Given the description of an element on the screen output the (x, y) to click on. 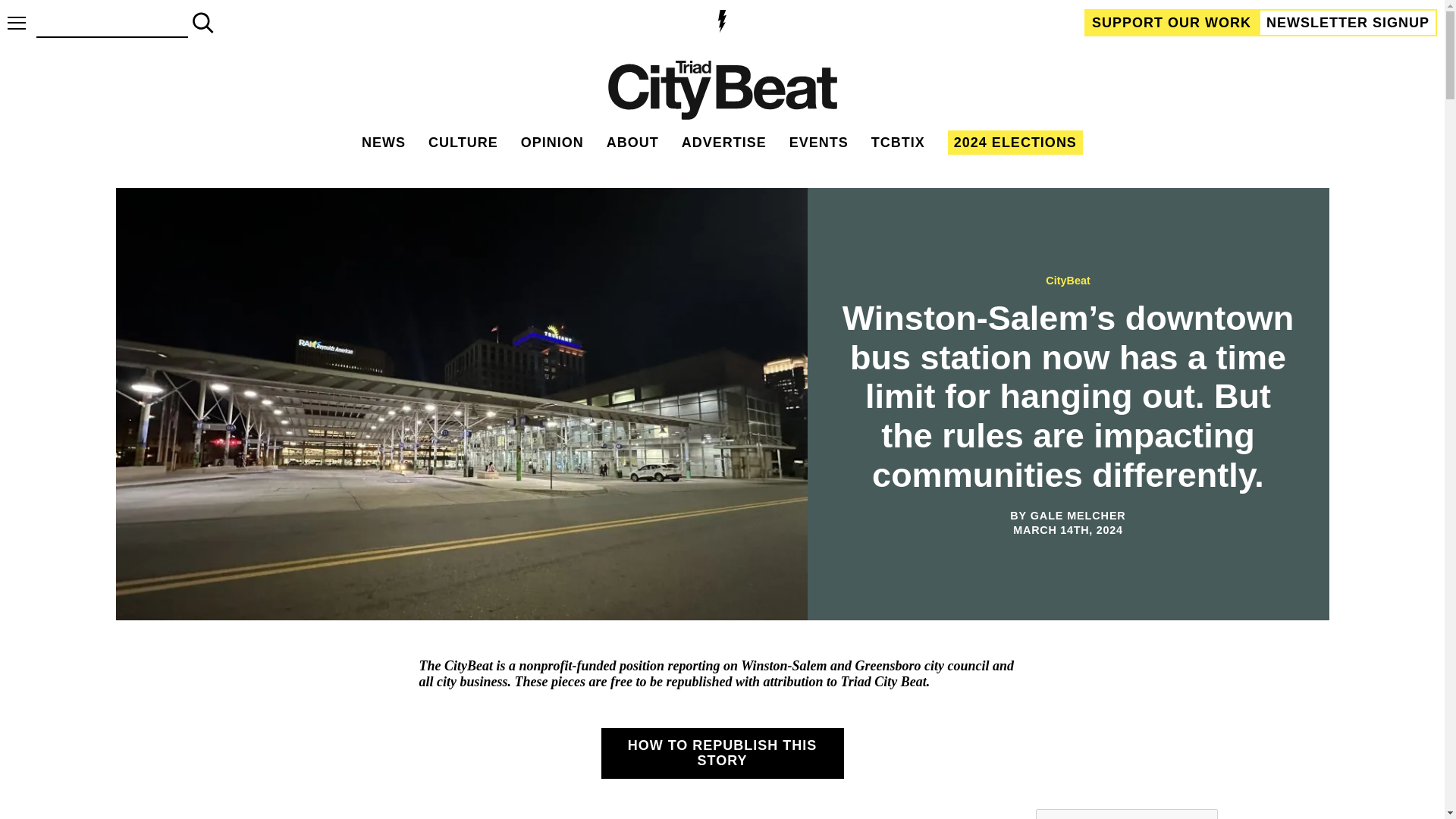
SUPPORT OUR WORK (1171, 22)
2024 ELECTIONS (1015, 142)
BY GALE MELCHER (1067, 515)
CULTURE (462, 142)
EVENTS (818, 142)
NEWSLETTER SIGNUP (1348, 22)
NEWS (383, 142)
ADVERTISE (724, 142)
TCBTIX (897, 142)
OPINION (552, 142)
